Given the description of an element on the screen output the (x, y) to click on. 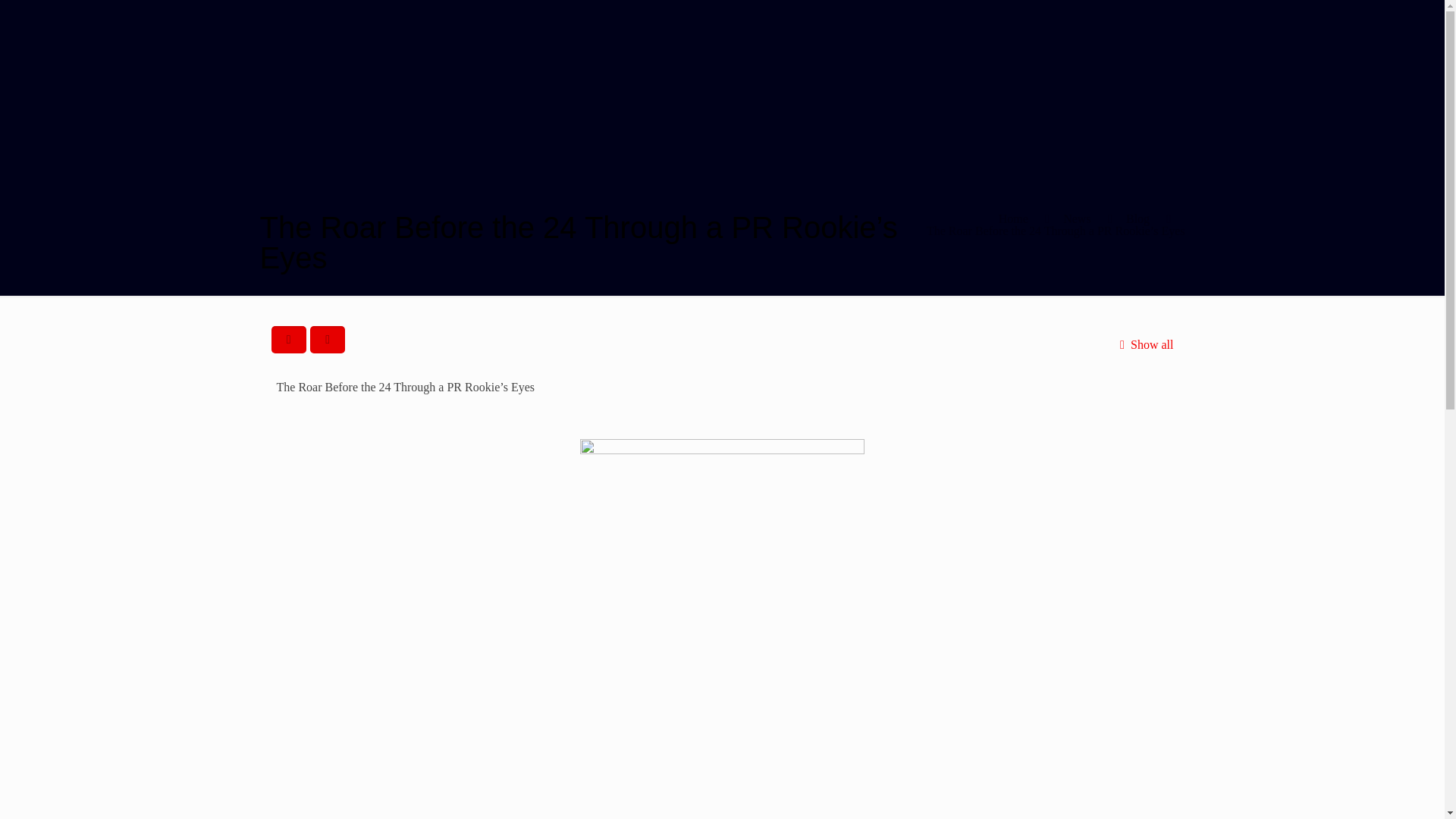
Blog (1137, 218)
News (1076, 218)
Home (1012, 218)
Show all (1143, 344)
